Given the description of an element on the screen output the (x, y) to click on. 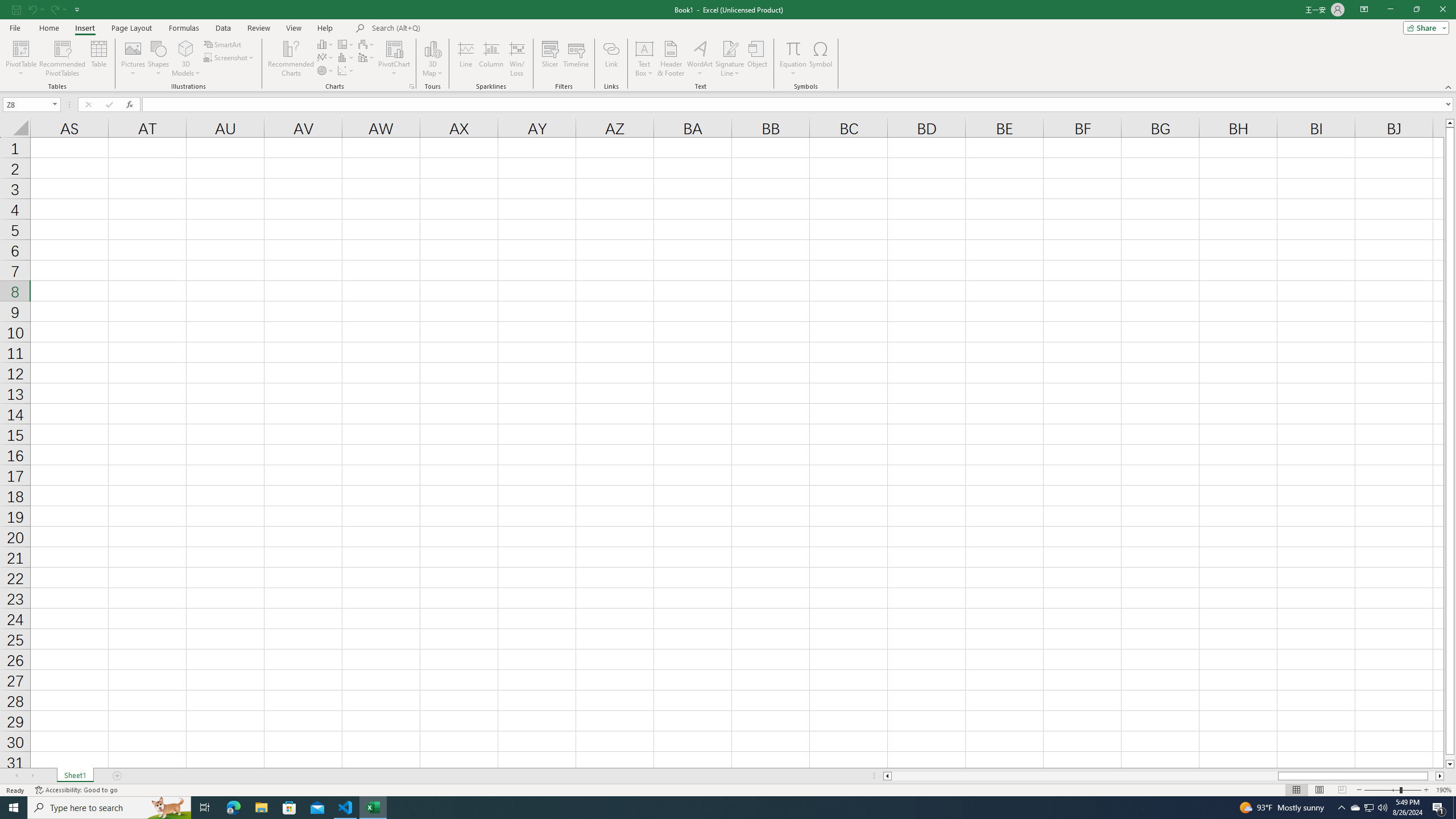
Signature Line (729, 58)
Timeline (575, 58)
Signature Line (729, 48)
Column right (1440, 775)
Insert Statistic Chart (346, 56)
Symbol... (821, 58)
Accessibility Checker Accessibility: Good to go (76, 790)
Screenshot (229, 56)
Insert Pie or Doughnut Chart (325, 69)
PivotTable (20, 48)
Column left (886, 775)
Link (611, 58)
Column (491, 58)
